Given the description of an element on the screen output the (x, y) to click on. 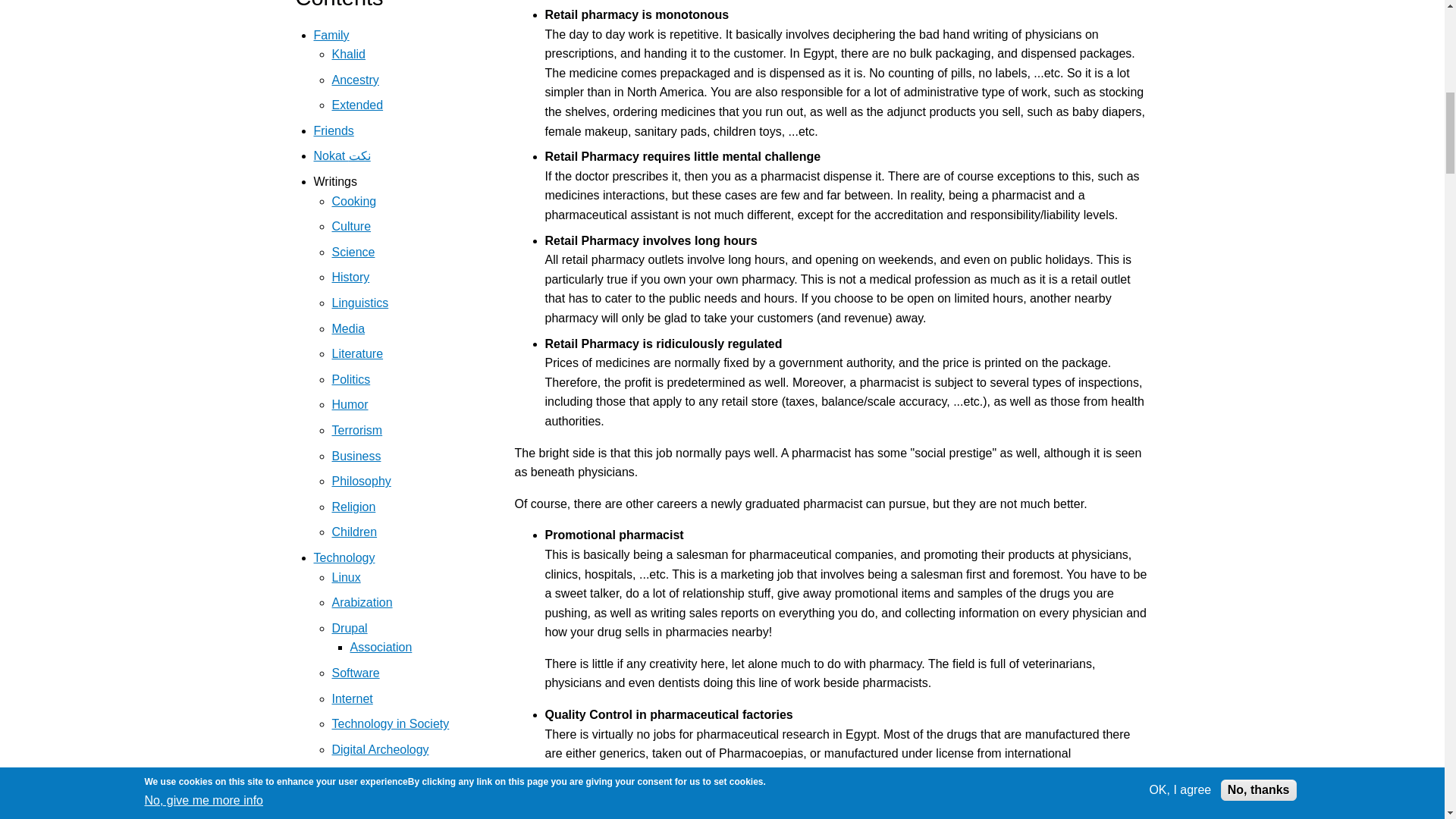
On Khalid Baheyeldin (348, 53)
History and Ancestry of the Baheyeldin family (354, 79)
